Given the description of an element on the screen output the (x, y) to click on. 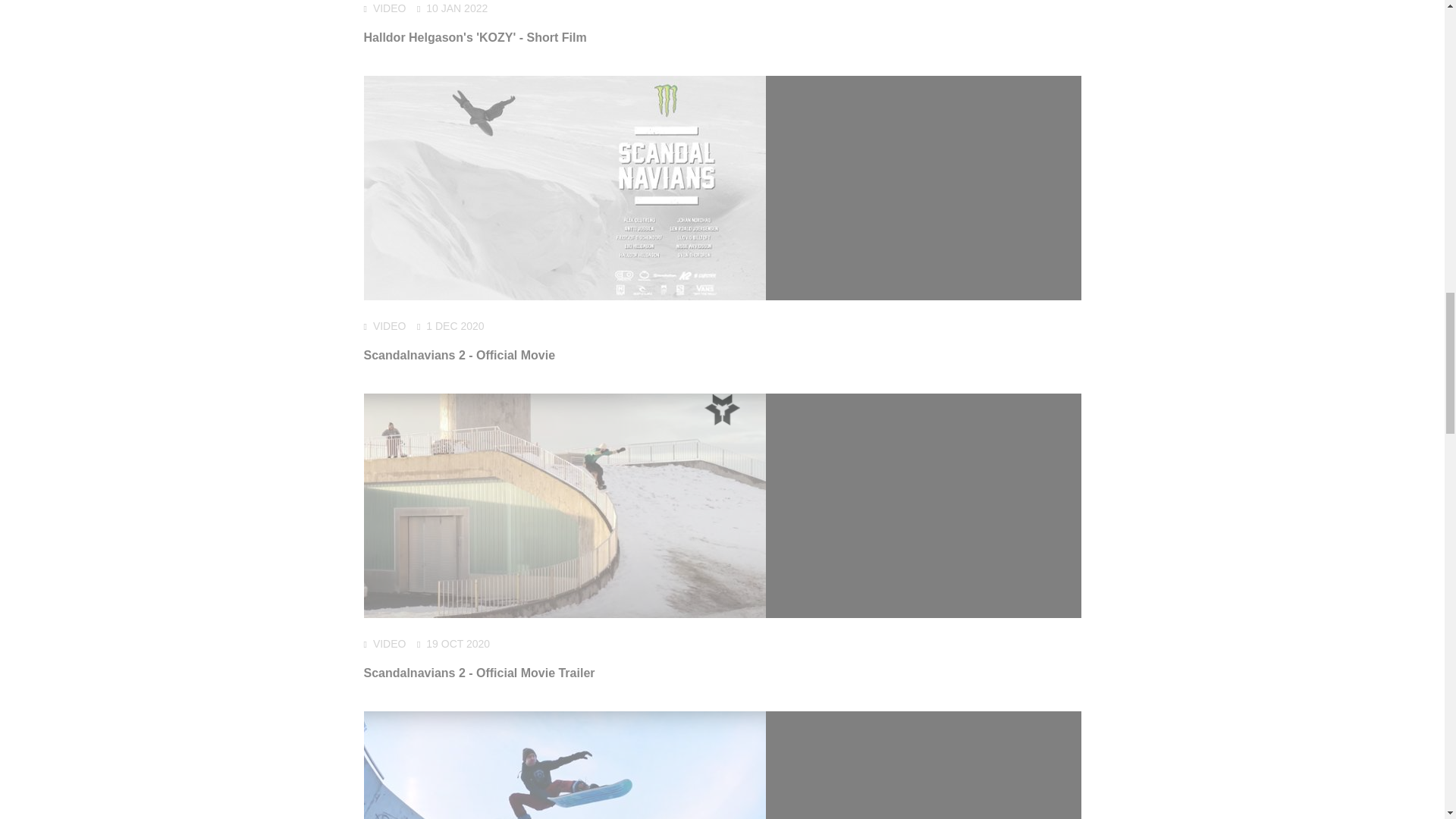
Halldor Helgason's 'KOZY' - Short Film (475, 37)
Scandalnavians 2 - Official Movie Trailer (479, 672)
Scandalnavians 2 - Official Movie Trailer (479, 672)
Scandalnavians 2 - Official Movie (460, 354)
Scandalnavians 2 - Official Movie  (460, 354)
Halldor Helgason's 'KOZY' - Short Film (475, 37)
